Given the description of an element on the screen output the (x, y) to click on. 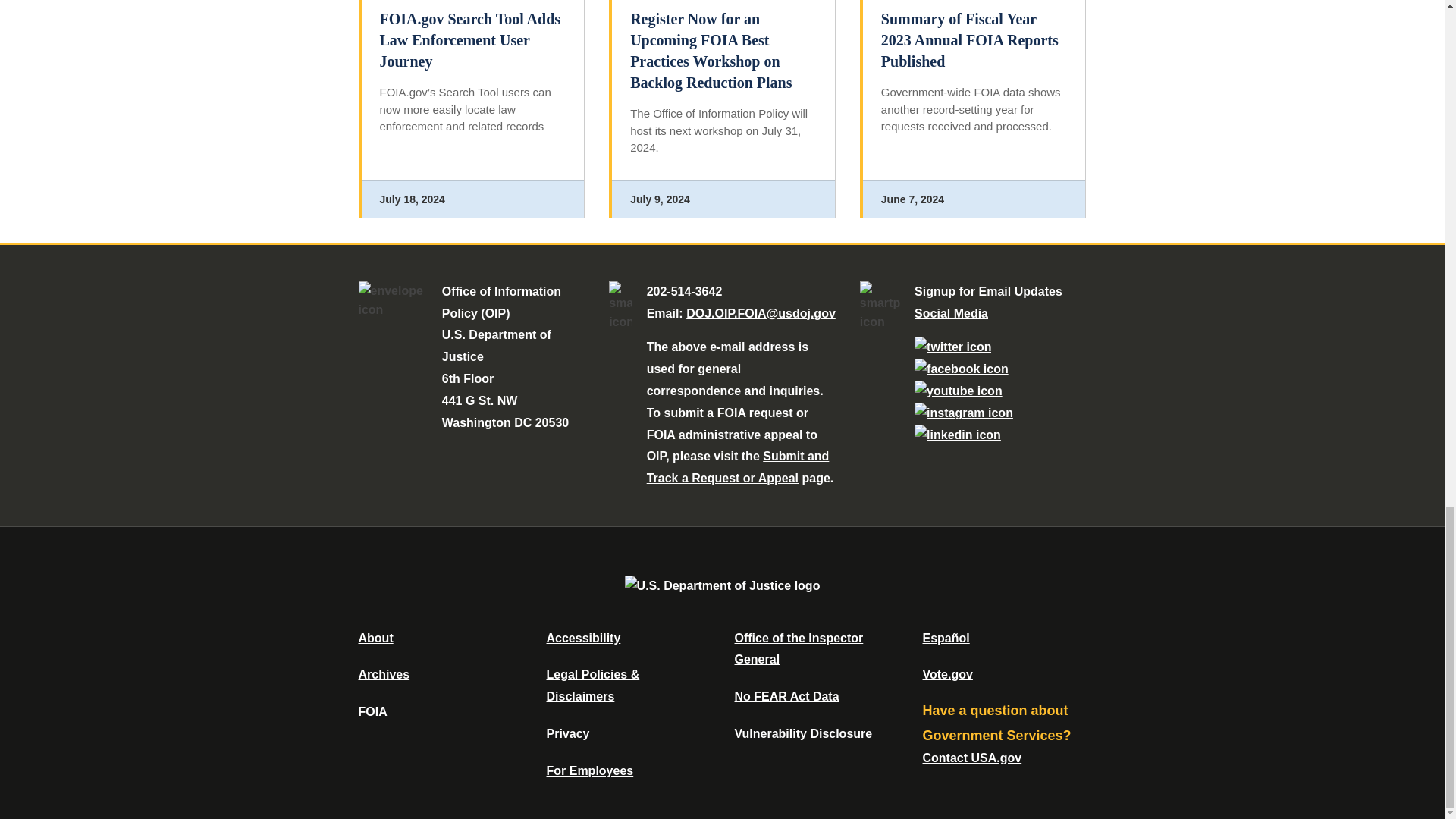
About DOJ (375, 637)
For Employees (589, 770)
Legal Policies and Disclaimers (592, 685)
Accessibility Statement (583, 637)
Office of Information Policy (372, 711)
Data Posted Pursuant To The No Fear Act (785, 696)
Department of Justice Archive (383, 674)
